Given the description of an element on the screen output the (x, y) to click on. 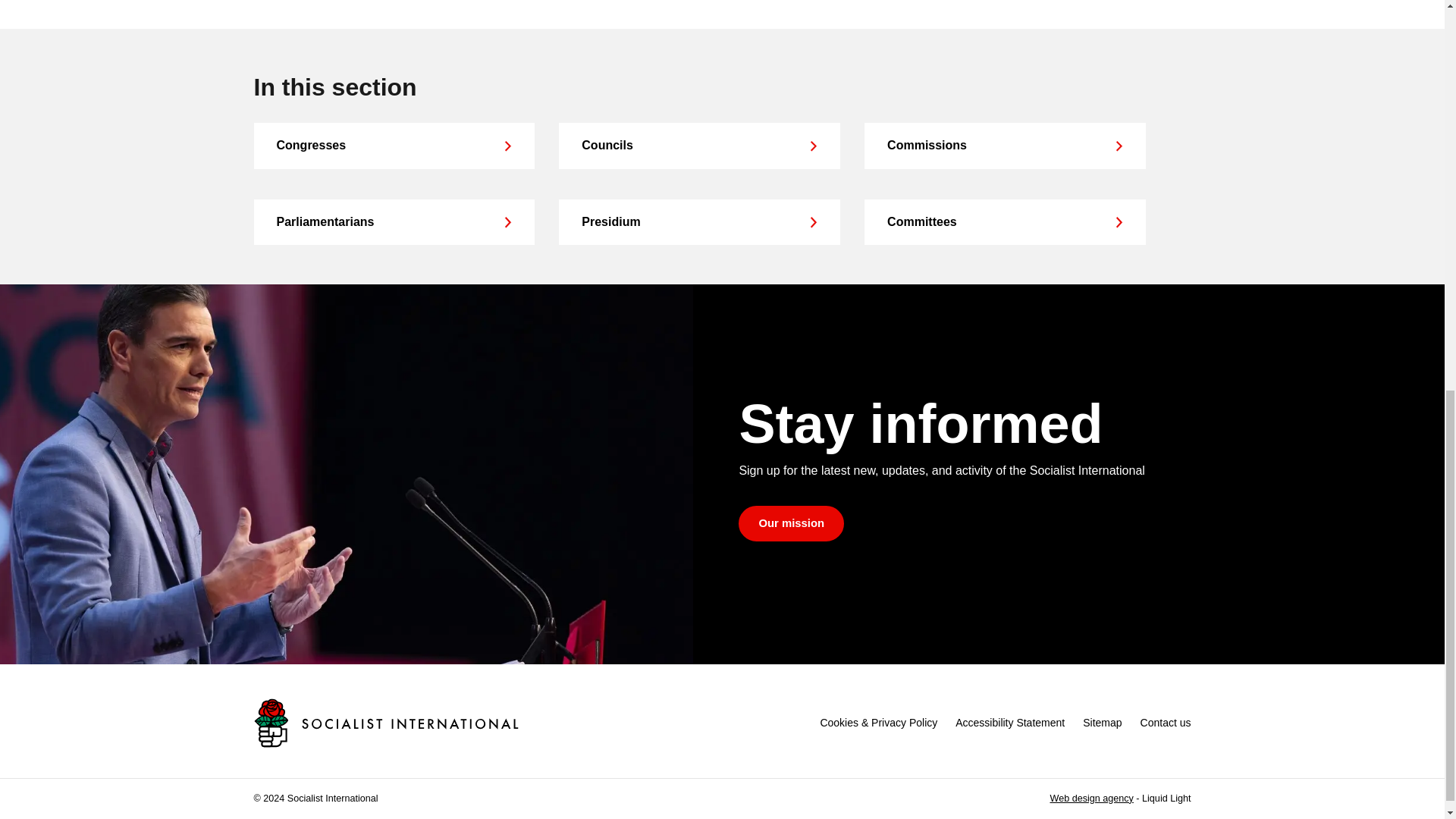
Congresses (394, 146)
Congresses (394, 146)
Councils (698, 146)
Councils (698, 146)
Parliamentarians (394, 222)
Commissions (1004, 146)
Commissions (1004, 146)
